Given the description of an element on the screen output the (x, y) to click on. 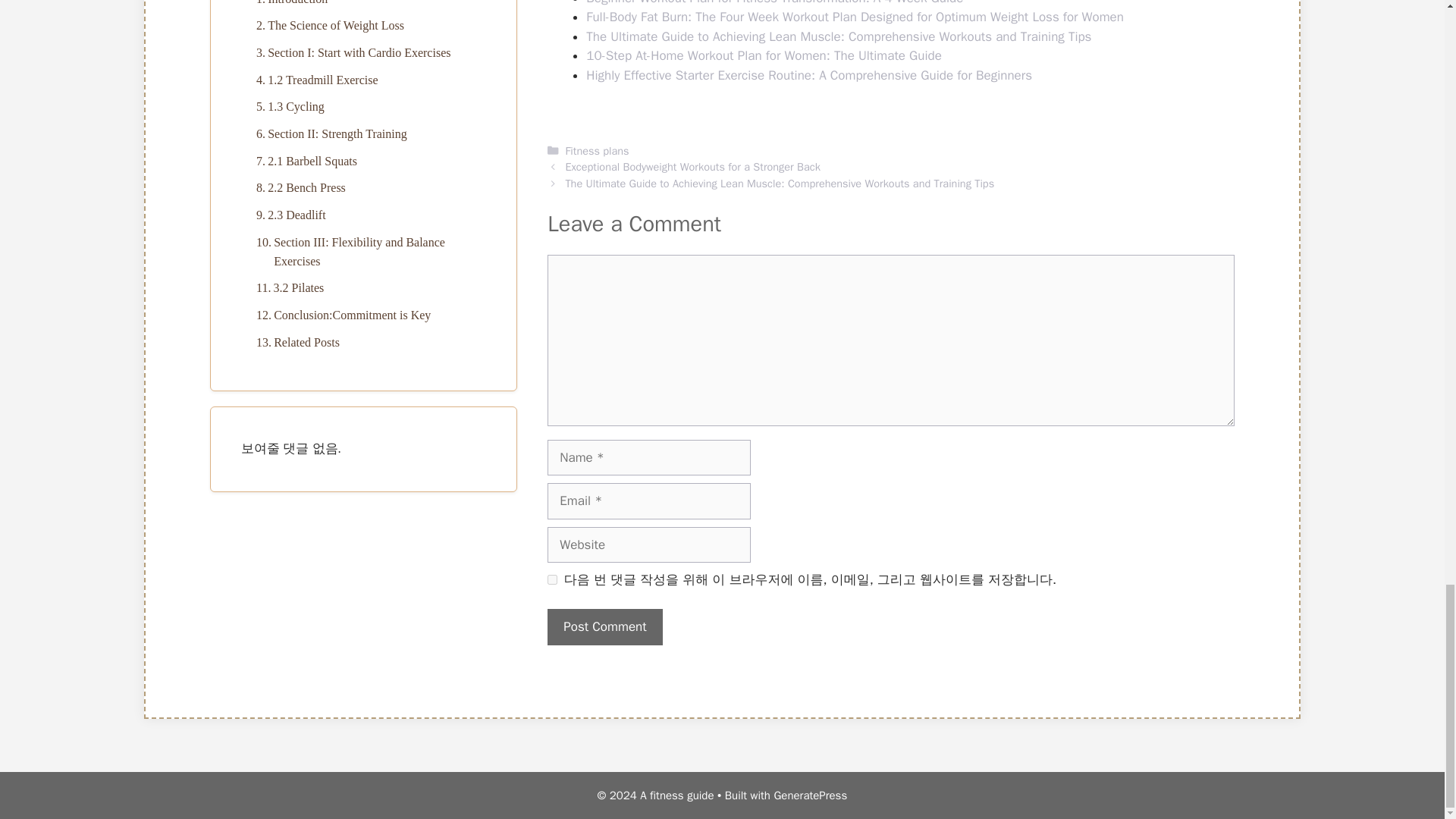
Post Comment (604, 627)
yes (552, 579)
10-Step At-Home Workout Plan for Women: The Ultimate Guide (764, 55)
Fitness plans (596, 151)
Post Comment (604, 627)
Introduction (287, 4)
The Science of Weight Loss (326, 25)
Exceptional Bodyweight Workouts for a Stronger Back (692, 166)
